Given the description of an element on the screen output the (x, y) to click on. 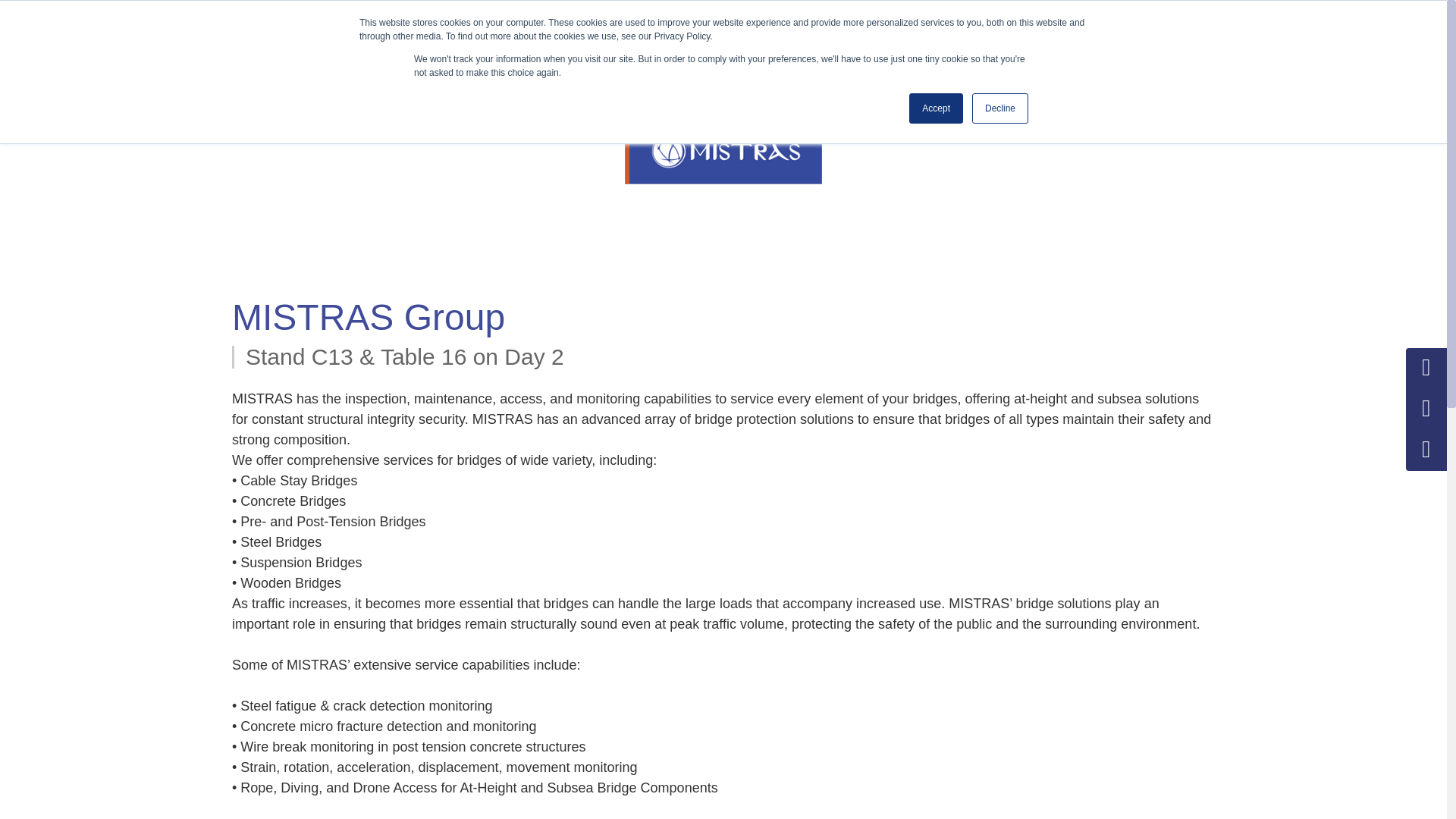
Gallery (1003, 26)
About us (745, 26)
Book A Stand (1191, 26)
Decline (999, 108)
Keep Me Informed (1337, 26)
What was on (625, 26)
2024 Exhibitor List (877, 26)
Video (1090, 26)
Accept (935, 108)
